Given the description of an element on the screen output the (x, y) to click on. 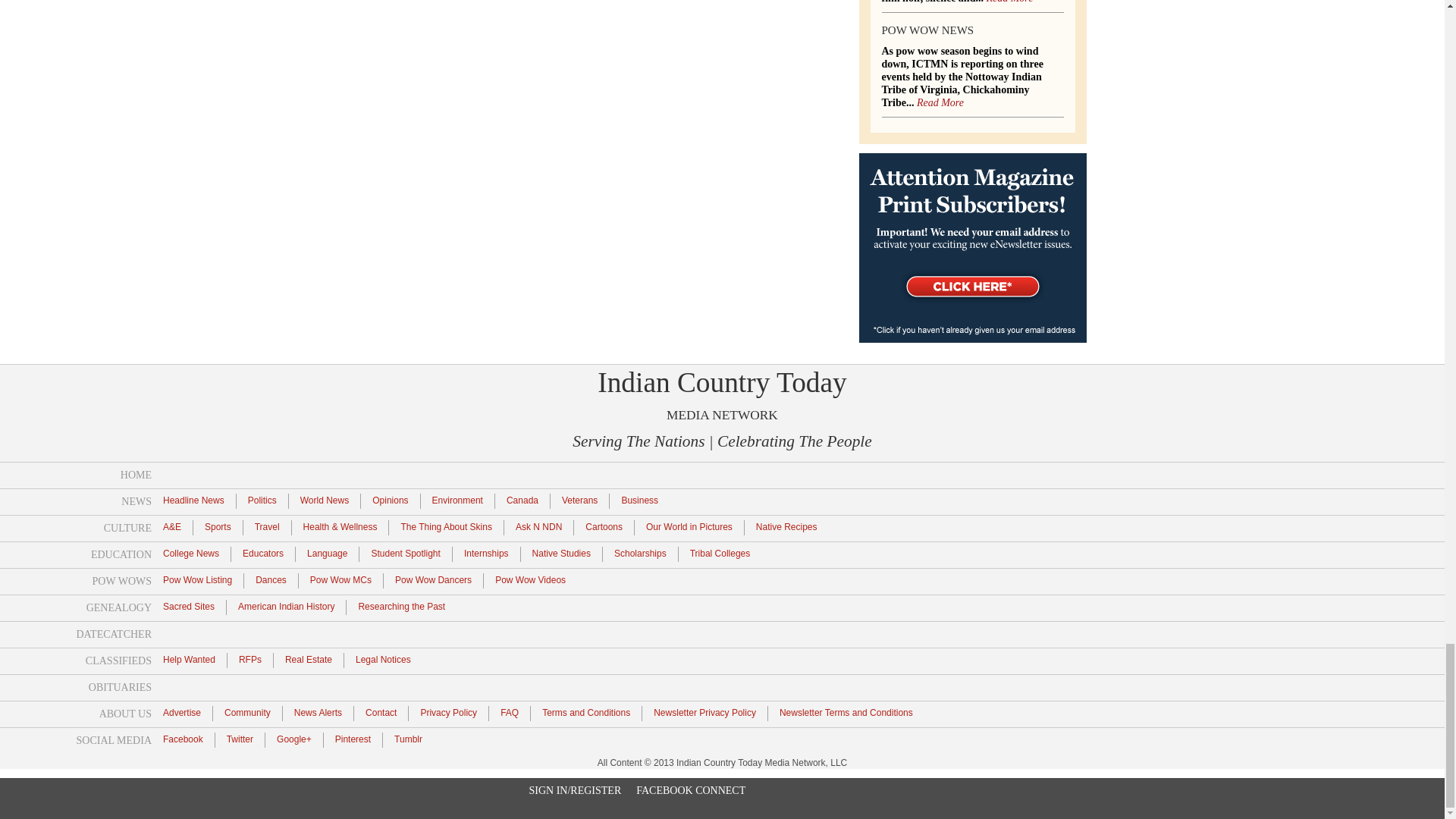
Terms and Conditions (585, 711)
Privacy Policy (448, 711)
